Given the description of an element on the screen output the (x, y) to click on. 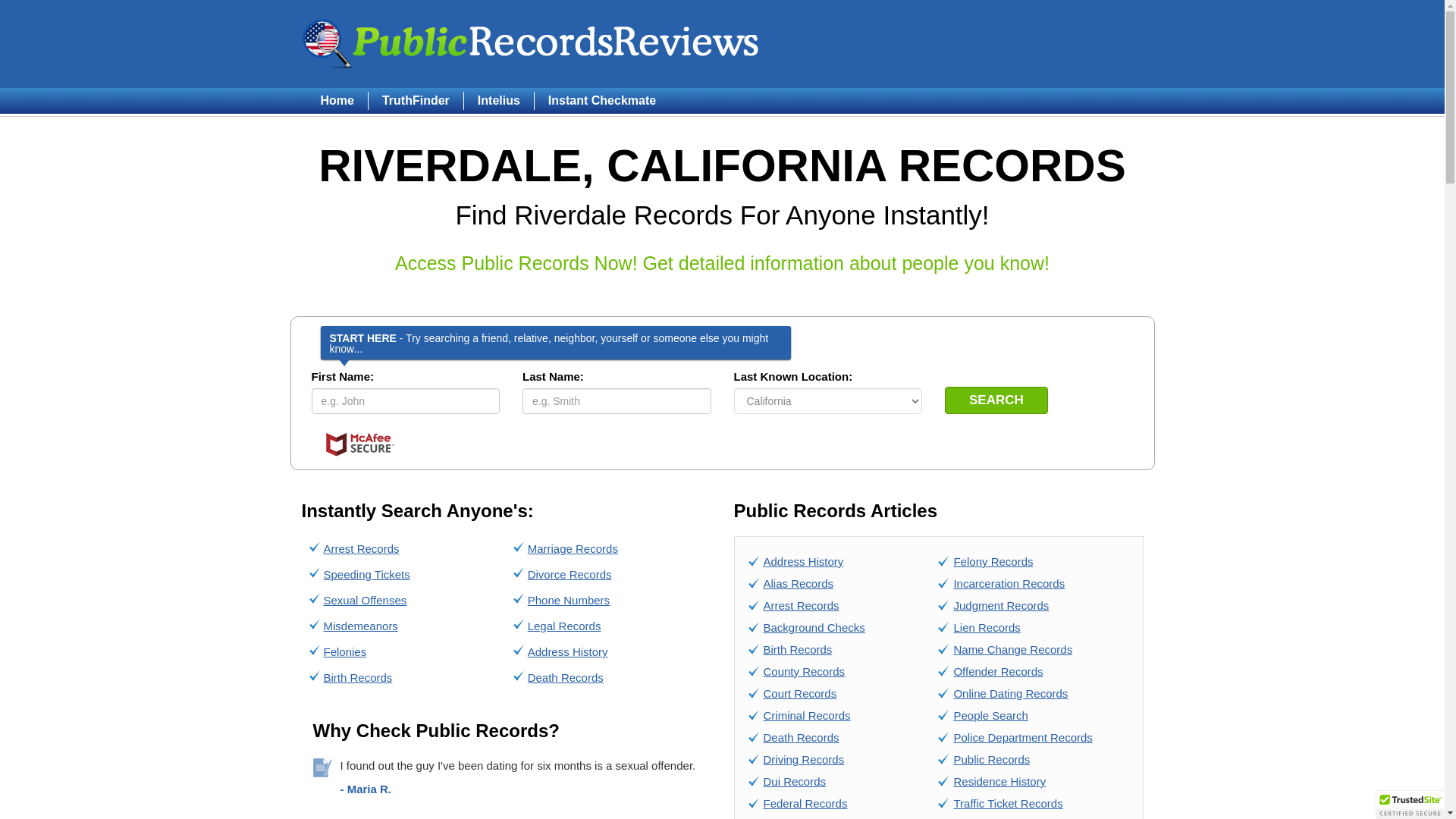
Death Records (800, 737)
SEARCH (996, 400)
Felony Records (992, 561)
Speeding Tickets (366, 574)
Misdemeanors (360, 625)
Intelius (498, 100)
Offender Records (997, 671)
Felonies (344, 651)
Arrest Records (360, 548)
McAfee Secured (359, 444)
Police Department Records (1022, 737)
County Records (803, 671)
Legal Records (564, 625)
TruthFinder (415, 100)
Death Records (565, 676)
